Given the description of an element on the screen output the (x, y) to click on. 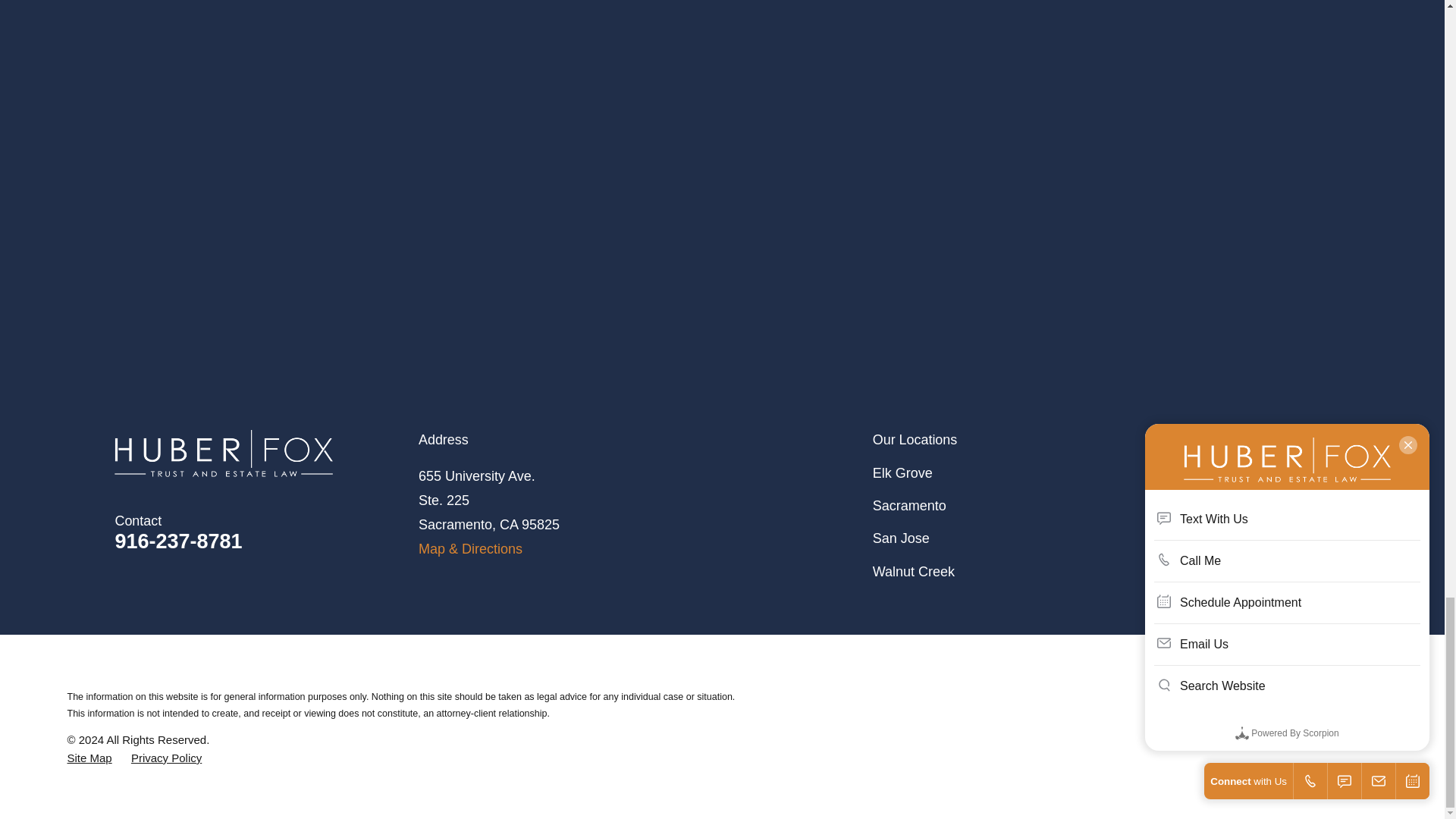
LinkedIn (1278, 473)
Home (267, 452)
Google Business Profile (1317, 473)
Huber Fox (224, 452)
